Given the description of an element on the screen output the (x, y) to click on. 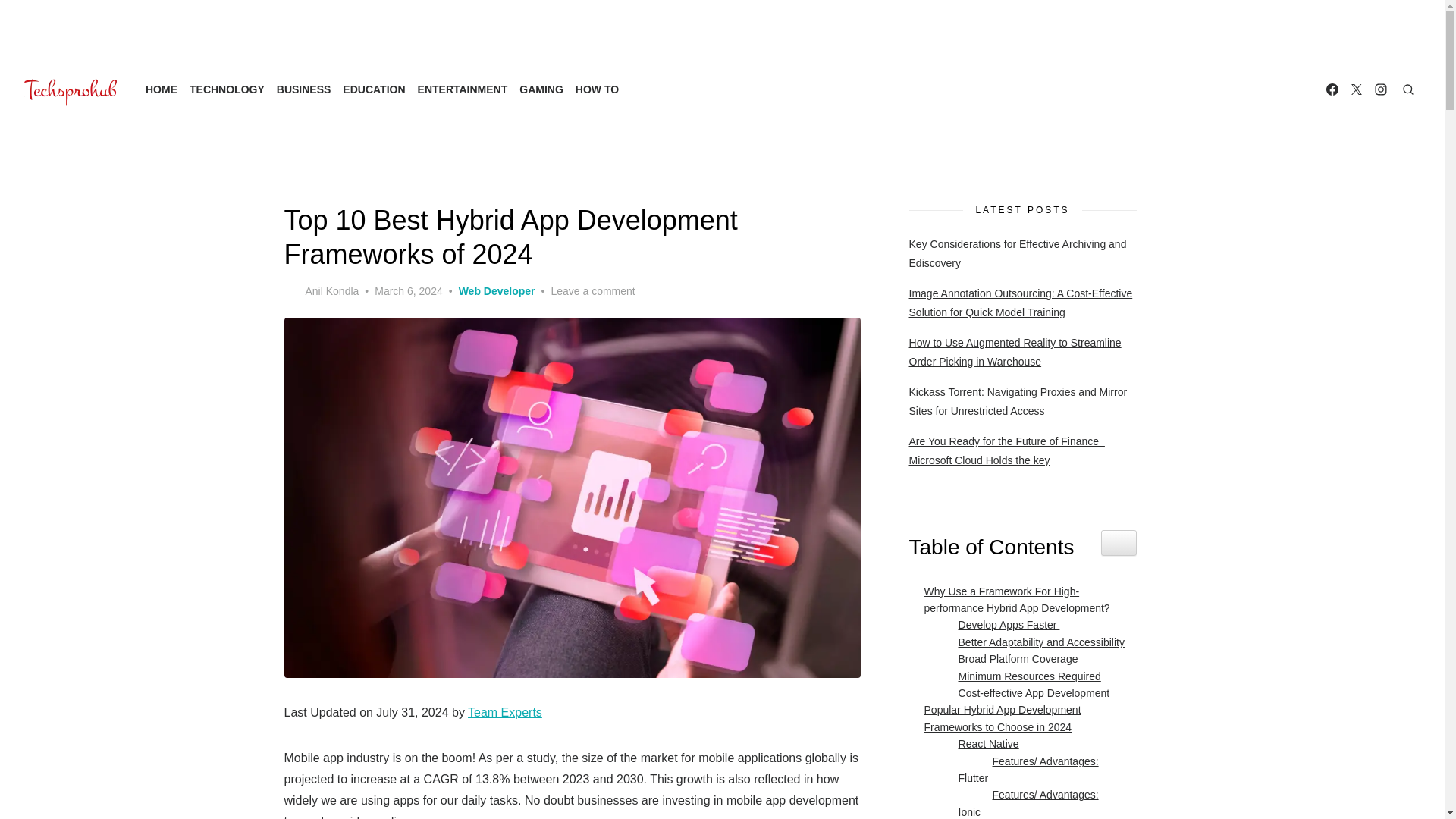
BUSINESS (303, 88)
Anil Kondla (320, 291)
Better Adaptability and Accessibility (1037, 641)
Minimum Resources Required (1025, 676)
TECHNOLOGY (226, 88)
Popular Hybrid App Development Frameworks to Choose in 2024 (1023, 718)
Web Developer (496, 291)
Broad Platform Coverage (1014, 658)
March 6, 2024 (408, 291)
Team Experts (504, 712)
EDUCATION (373, 88)
HOW TO (596, 88)
